Given the description of an element on the screen output the (x, y) to click on. 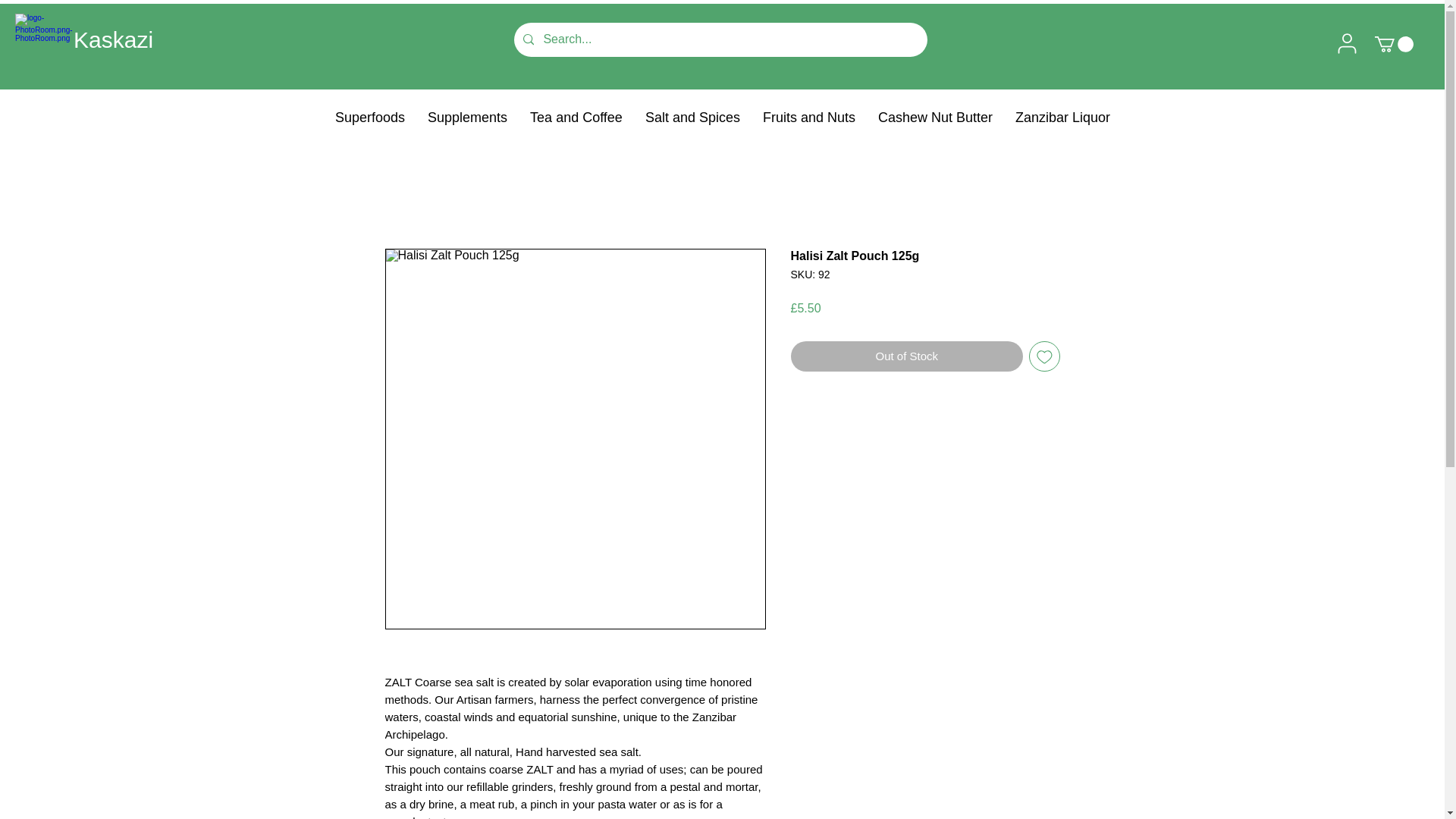
Superfoods (369, 117)
Zanzibar Liquor (1062, 117)
Fruits and Nuts (808, 117)
Out of Stock (906, 356)
Tea and Coffee (575, 117)
Cashew Nut Butter (935, 117)
Salt and Spices (692, 117)
Kaskazi (113, 39)
Supplements (467, 117)
